Given the description of an element on the screen output the (x, y) to click on. 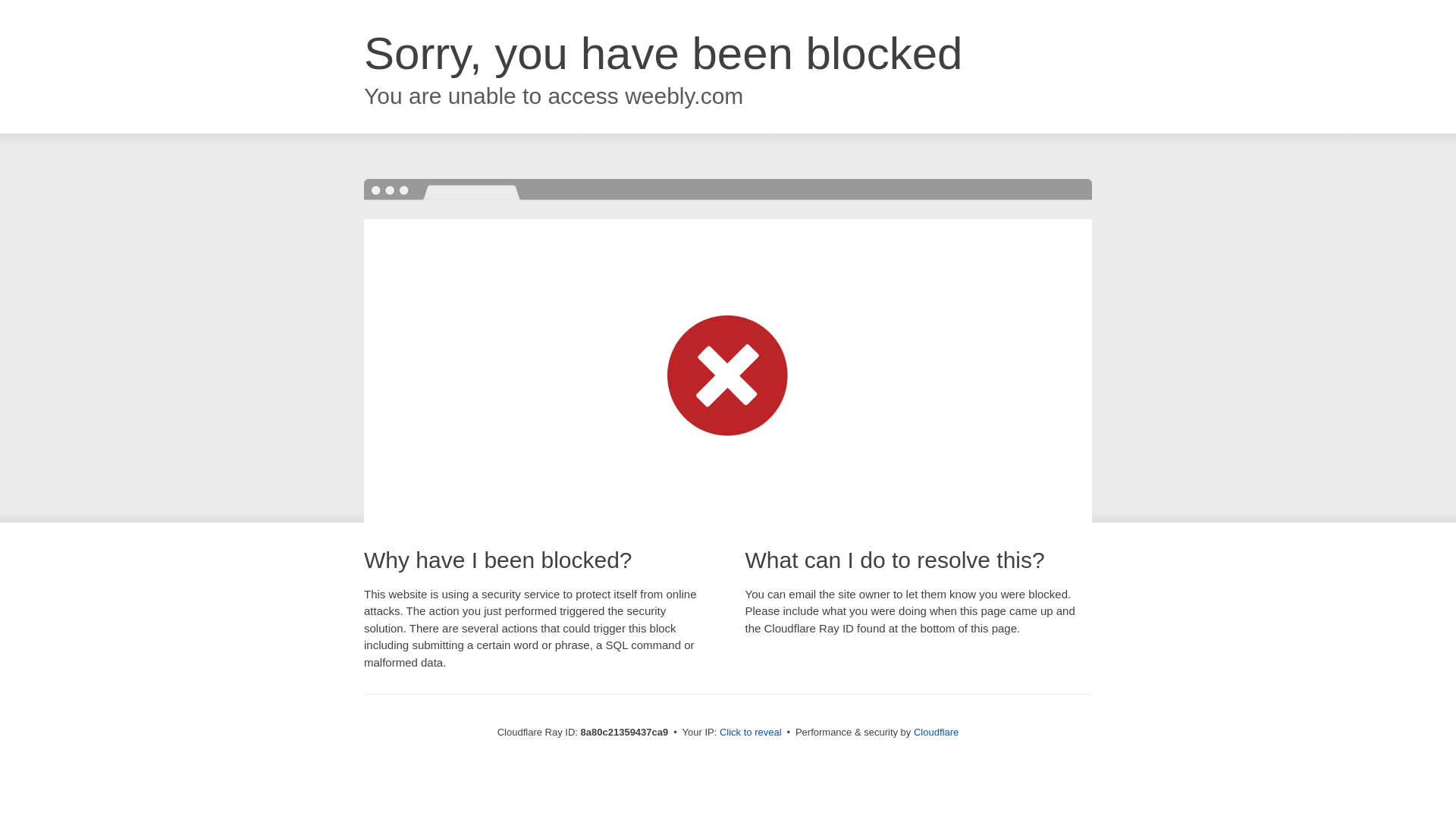
Cloudflare (936, 731)
Click to reveal (750, 732)
